Given the description of an element on the screen output the (x, y) to click on. 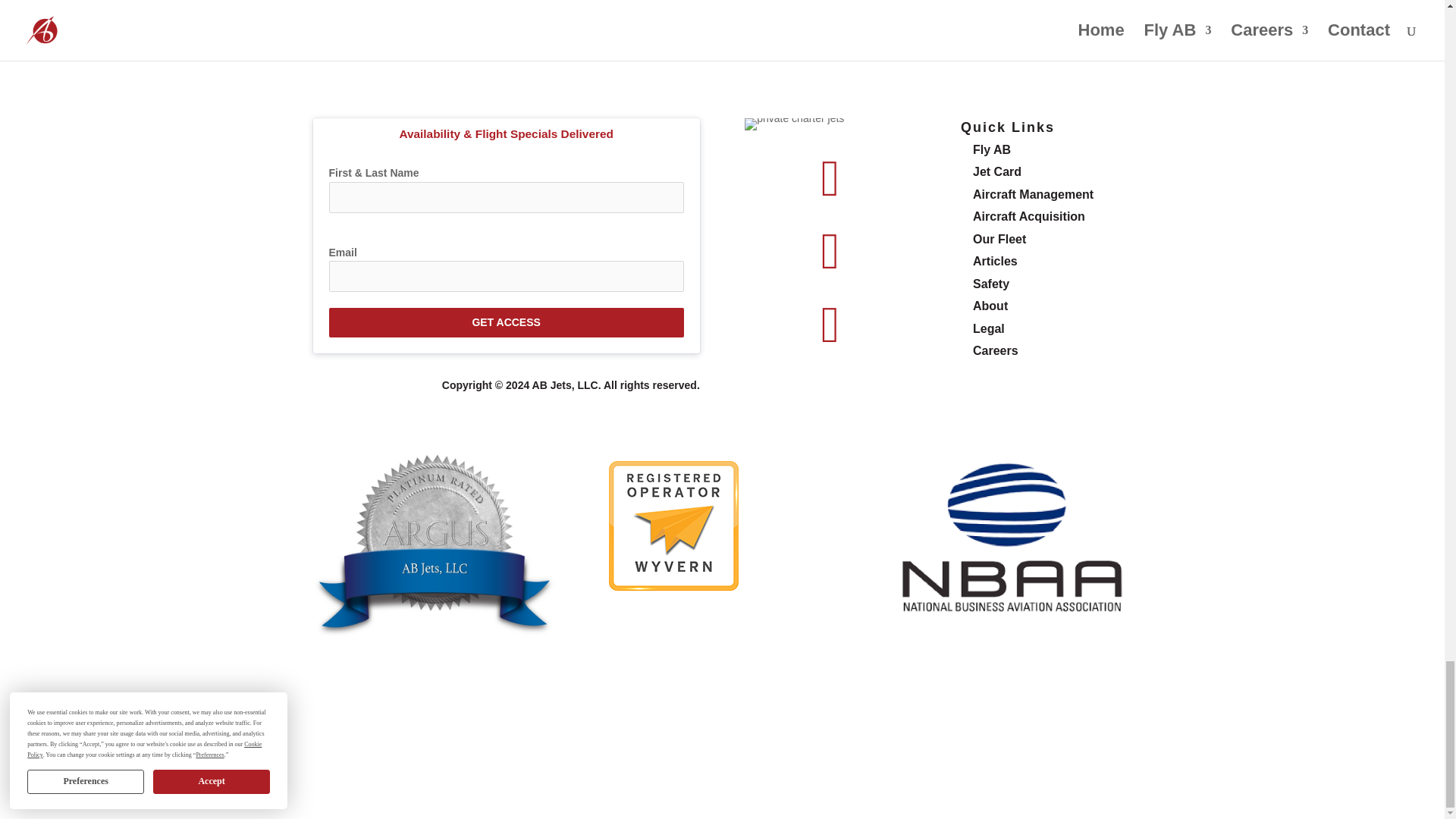
color.nbaa (1009, 543)
EMAIL (800, 20)
AB Jets - 25 years logo-compact-for email signature (794, 123)
